Given the description of an element on the screen output the (x, y) to click on. 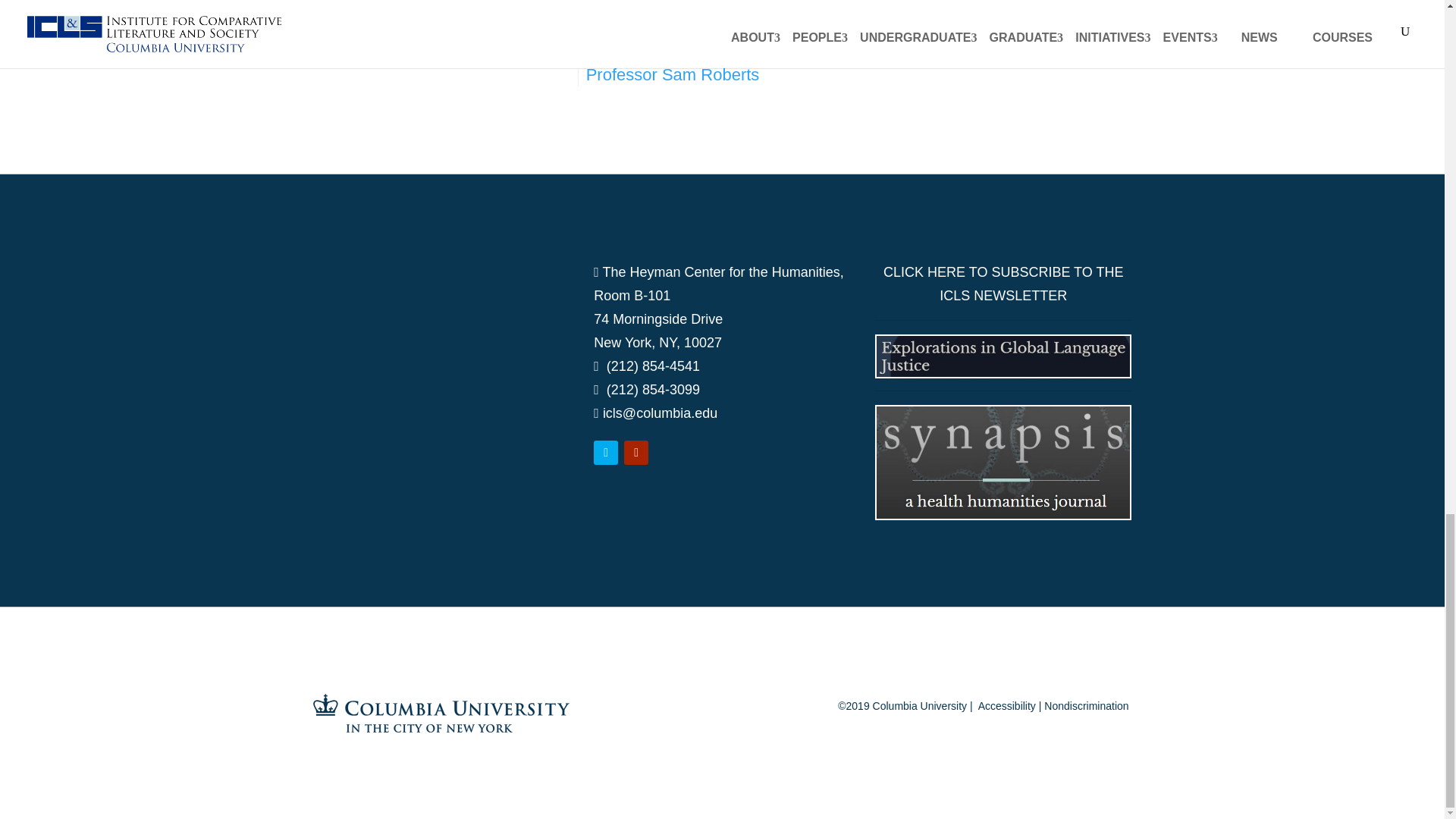
Exploartions in Global Language Justice (1002, 355)
Google map of Columbia (440, 374)
Synapsis (1002, 461)
Youtube (635, 452)
Twitter (605, 452)
